Given the description of an element on the screen output the (x, y) to click on. 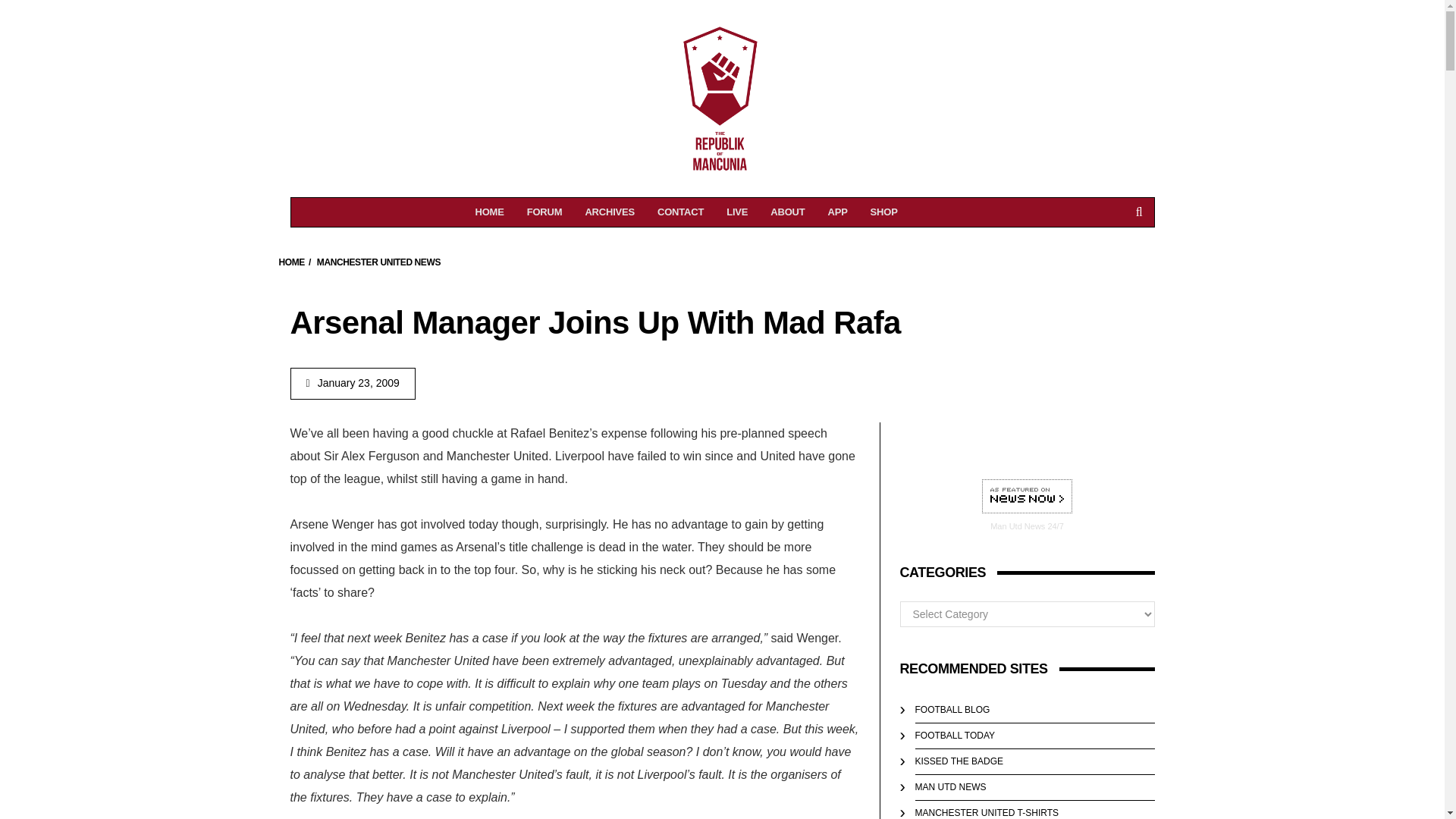
HOME (489, 212)
FORUM (544, 212)
APP (837, 212)
MANCHESTER UNITED NEWS (379, 262)
ARCHIVES (1026, 497)
SHOP (609, 212)
HOME (883, 212)
ABOUT (291, 262)
CONTACT (786, 212)
